Given the description of an element on the screen output the (x, y) to click on. 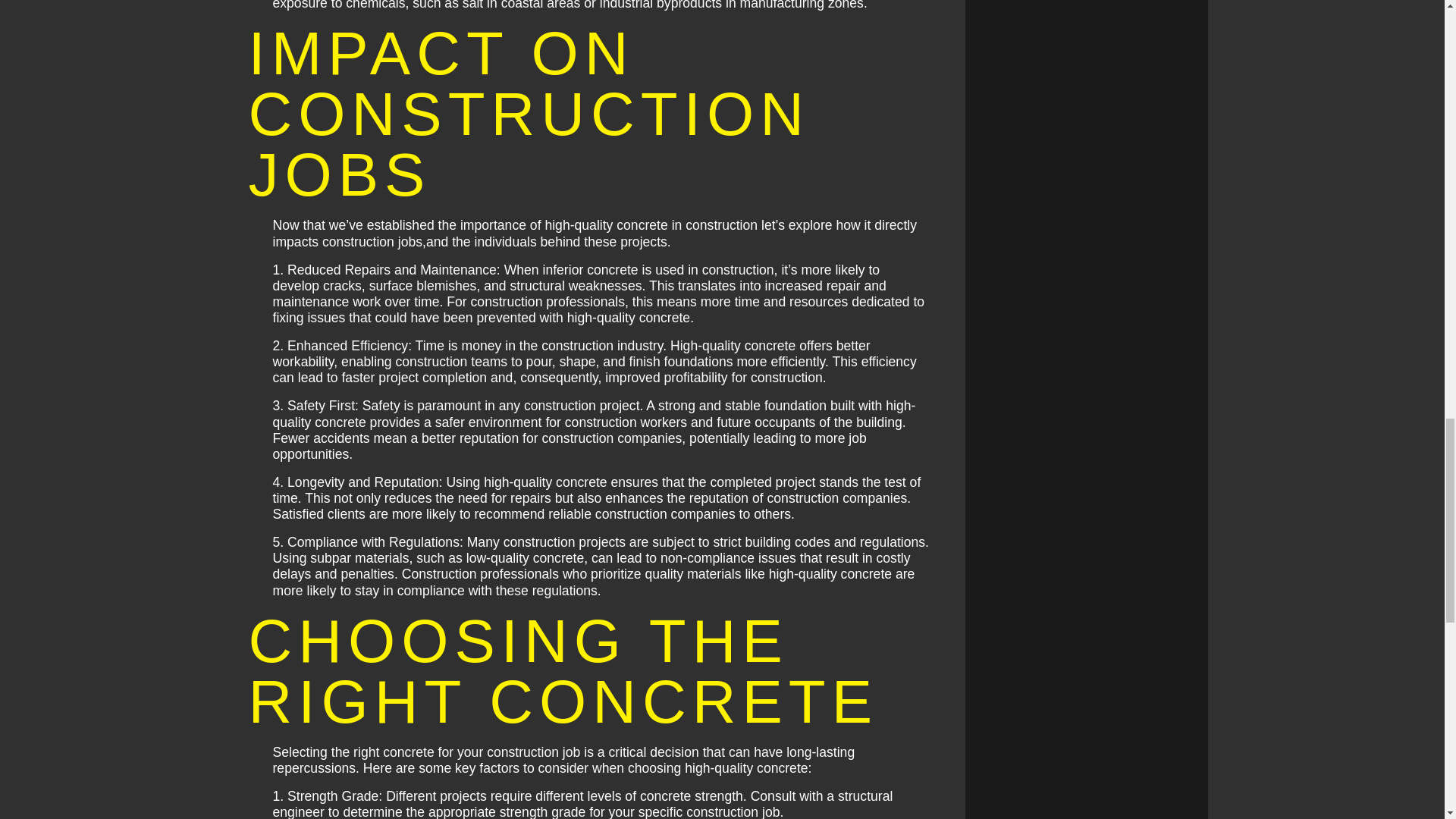
strong and stable foundation (742, 405)
construction jobs (371, 241)
